Given the description of an element on the screen output the (x, y) to click on. 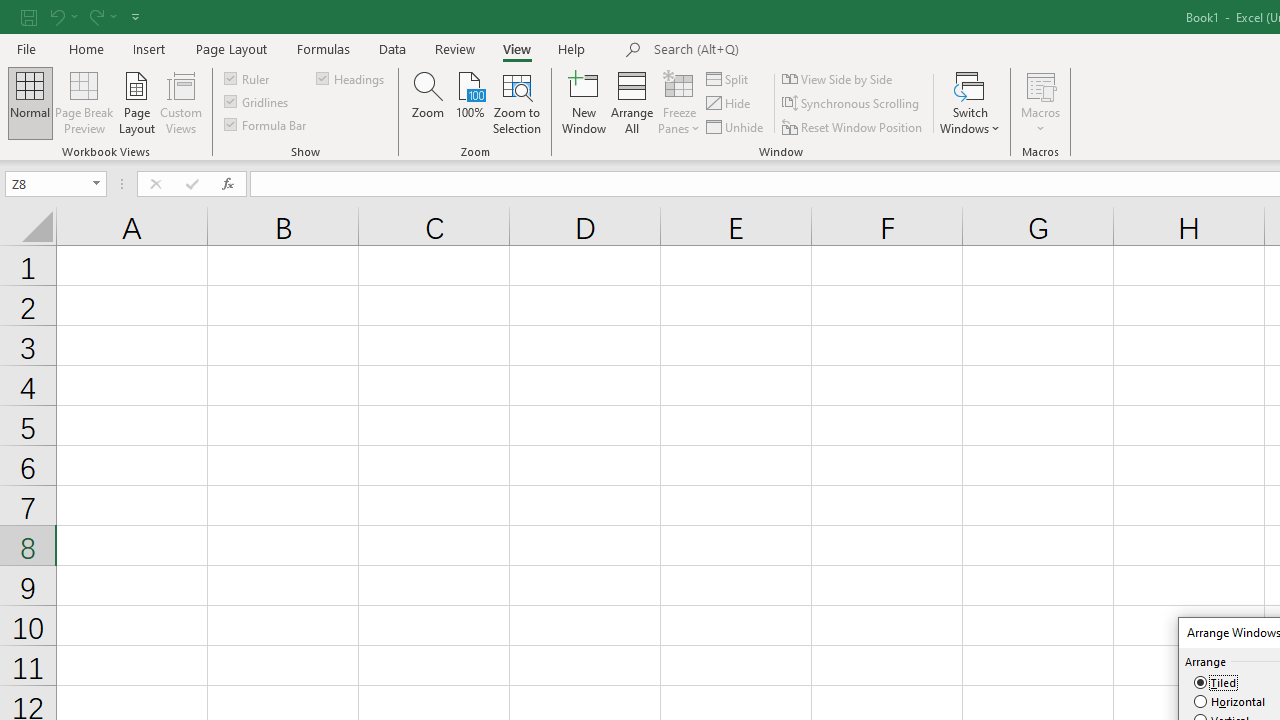
Reset Window Position (854, 126)
View Side by Side (838, 78)
Formula Bar (267, 124)
Zoom to Selection (517, 102)
Split (728, 78)
Synchronous Scrolling (852, 103)
Zoom... (428, 102)
Custom Views... (180, 102)
